Given the description of an element on the screen output the (x, y) to click on. 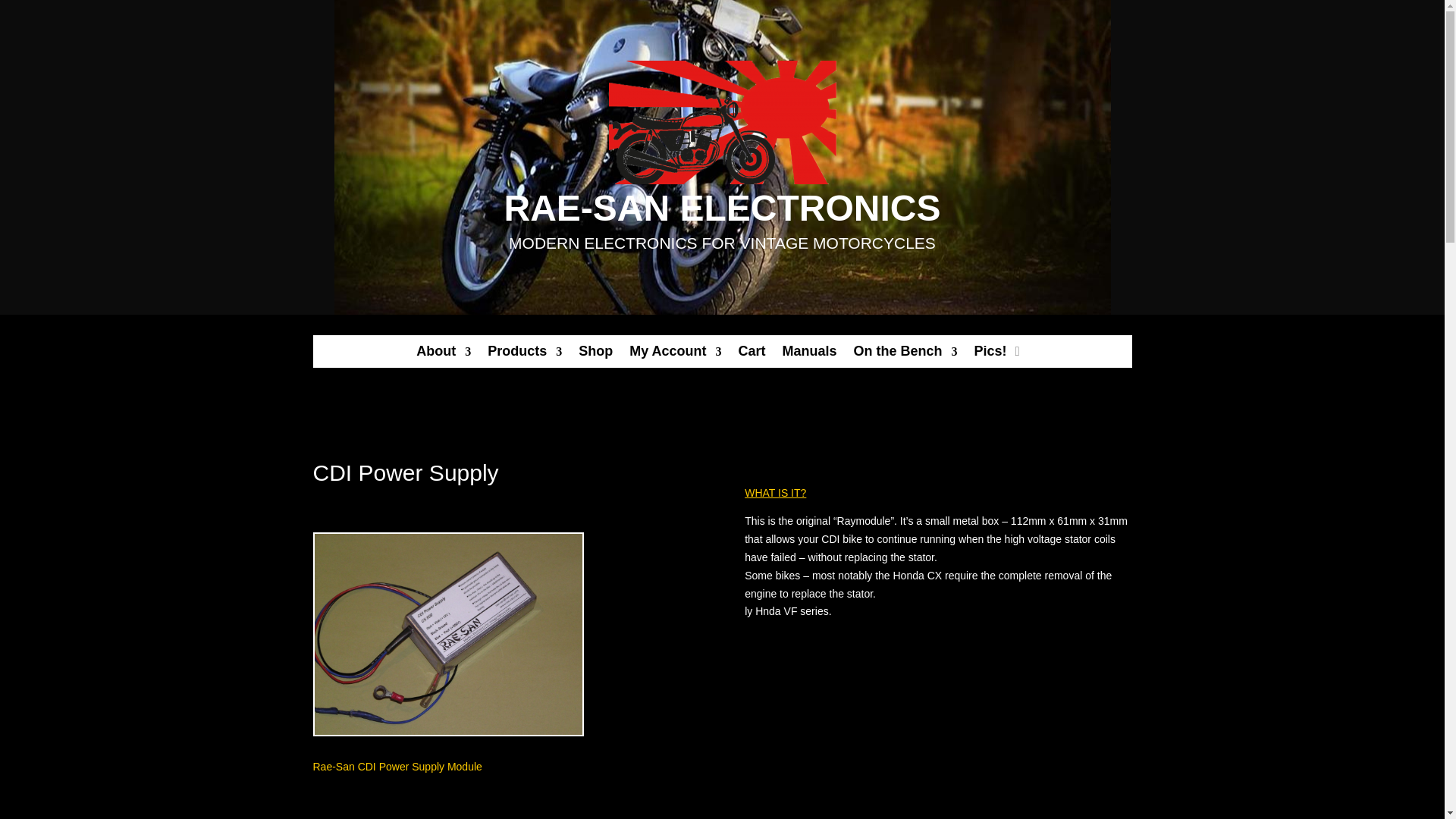
About (443, 354)
Shop (595, 354)
OLYMPUS DIGITAL CAMERA (447, 633)
Cart (751, 354)
Pics! (990, 354)
My Account (674, 354)
Manuals (810, 354)
On the Bench (905, 354)
Products (524, 354)
